Given the description of an element on the screen output the (x, y) to click on. 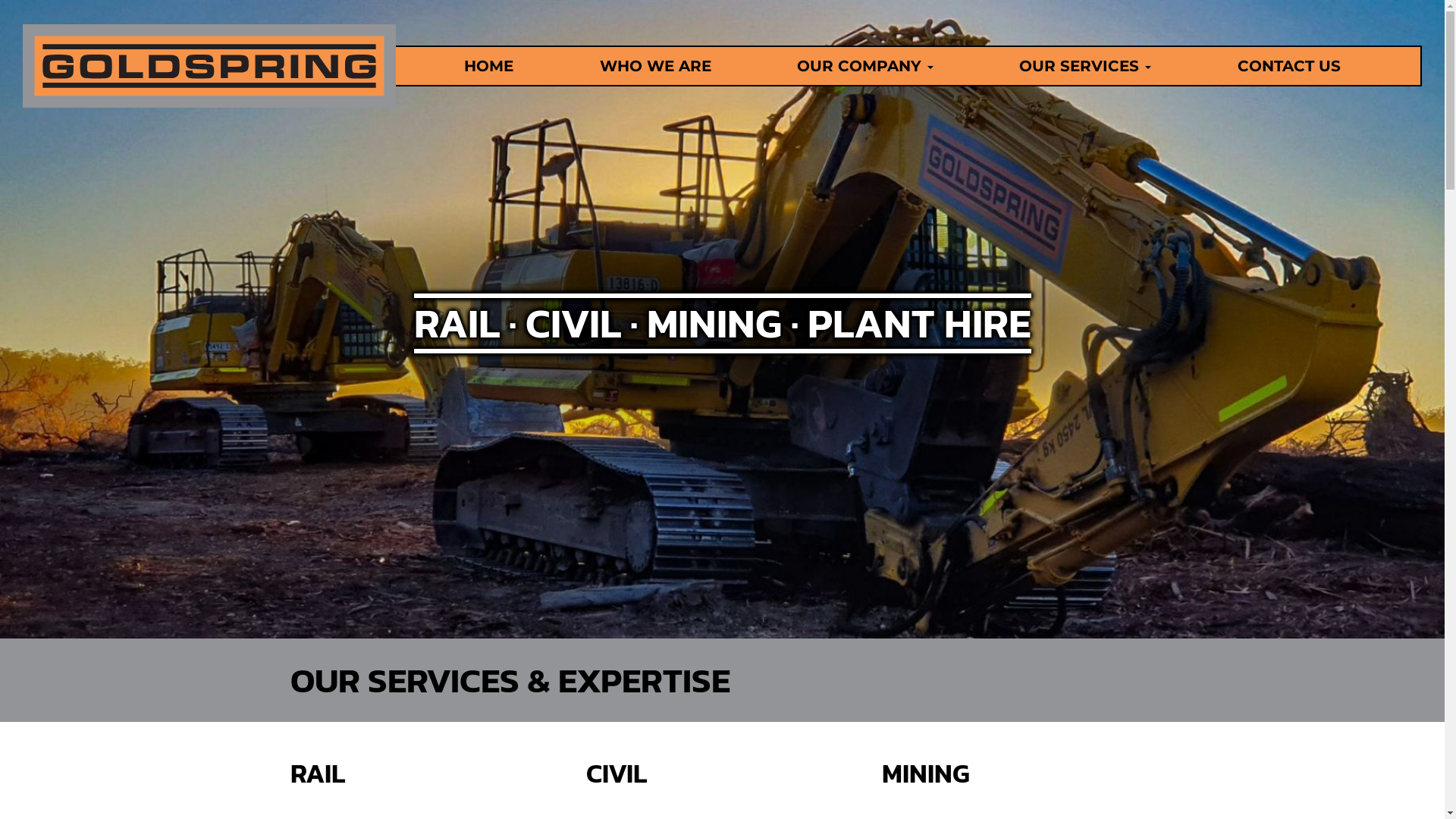
WHO WE ARE Element type: text (655, 65)
HOME Element type: text (488, 65)
OUR COMPANY Element type: text (865, 65)
CONTACT US Element type: text (1288, 65)
OUR SERVICES Element type: text (1084, 65)
